Given the description of an element on the screen output the (x, y) to click on. 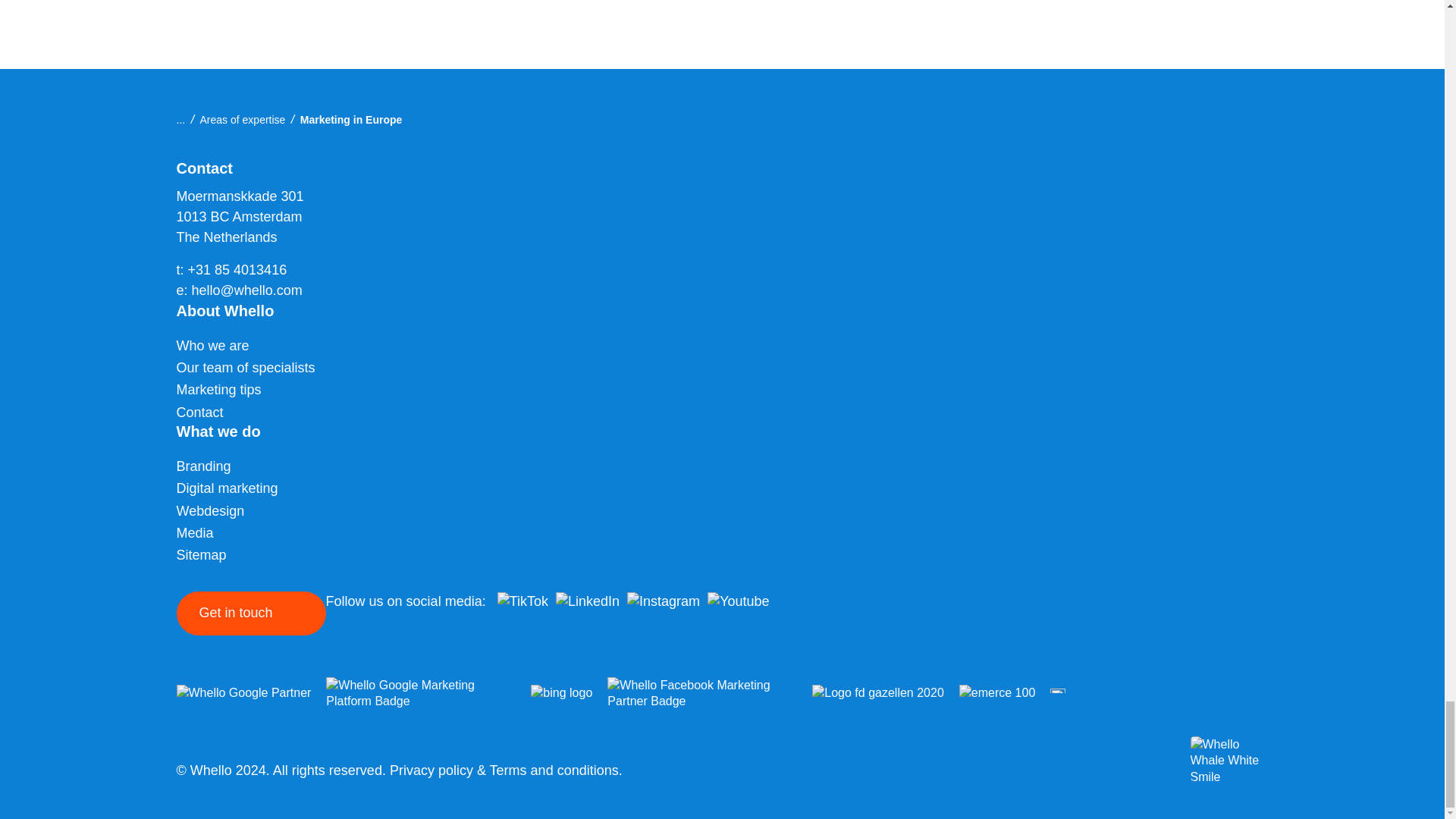
Who we are (218, 345)
Go to Areas of expertise. (242, 119)
Whello Google Marketing Platform Badge (420, 692)
Areas of expertise (242, 119)
Whello Google Partner (243, 692)
